Given the description of an element on the screen output the (x, y) to click on. 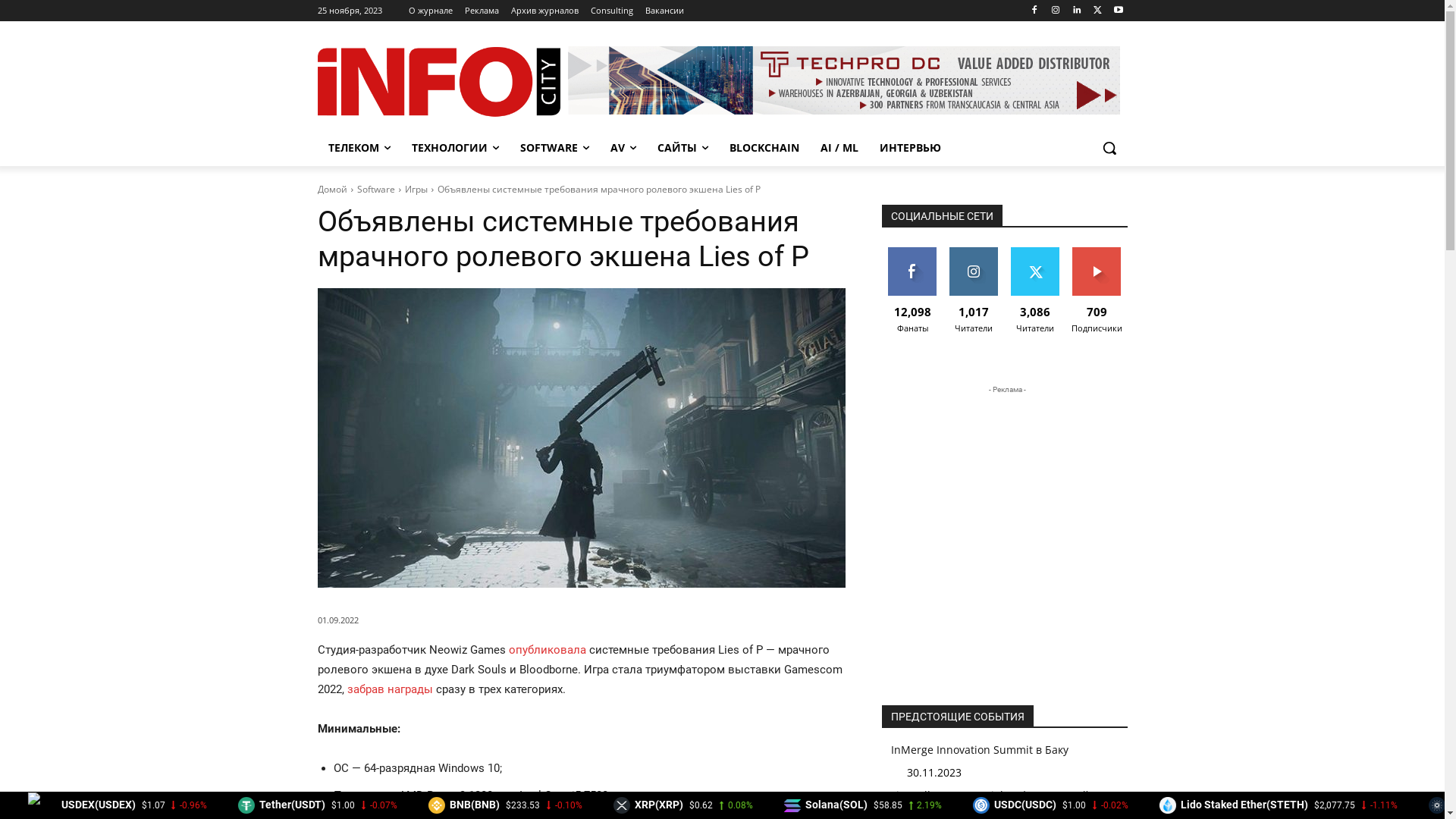
Facebook Element type: hover (1034, 9)
BLOCKCHAIN Element type: text (763, 147)
SOFTWARE Element type: text (554, 147)
Consulting Element type: text (610, 10)
Instagram Element type: hover (1054, 9)
Software Element type: text (375, 188)
AI / ML Element type: text (839, 147)
AV Element type: text (622, 147)
Linkedin Element type: hover (1076, 9)
Lies of P-1 Element type: hover (580, 437)
Youtube Element type: hover (1118, 9)
Twitter Element type: hover (1097, 9)
